Given the description of an element on the screen output the (x, y) to click on. 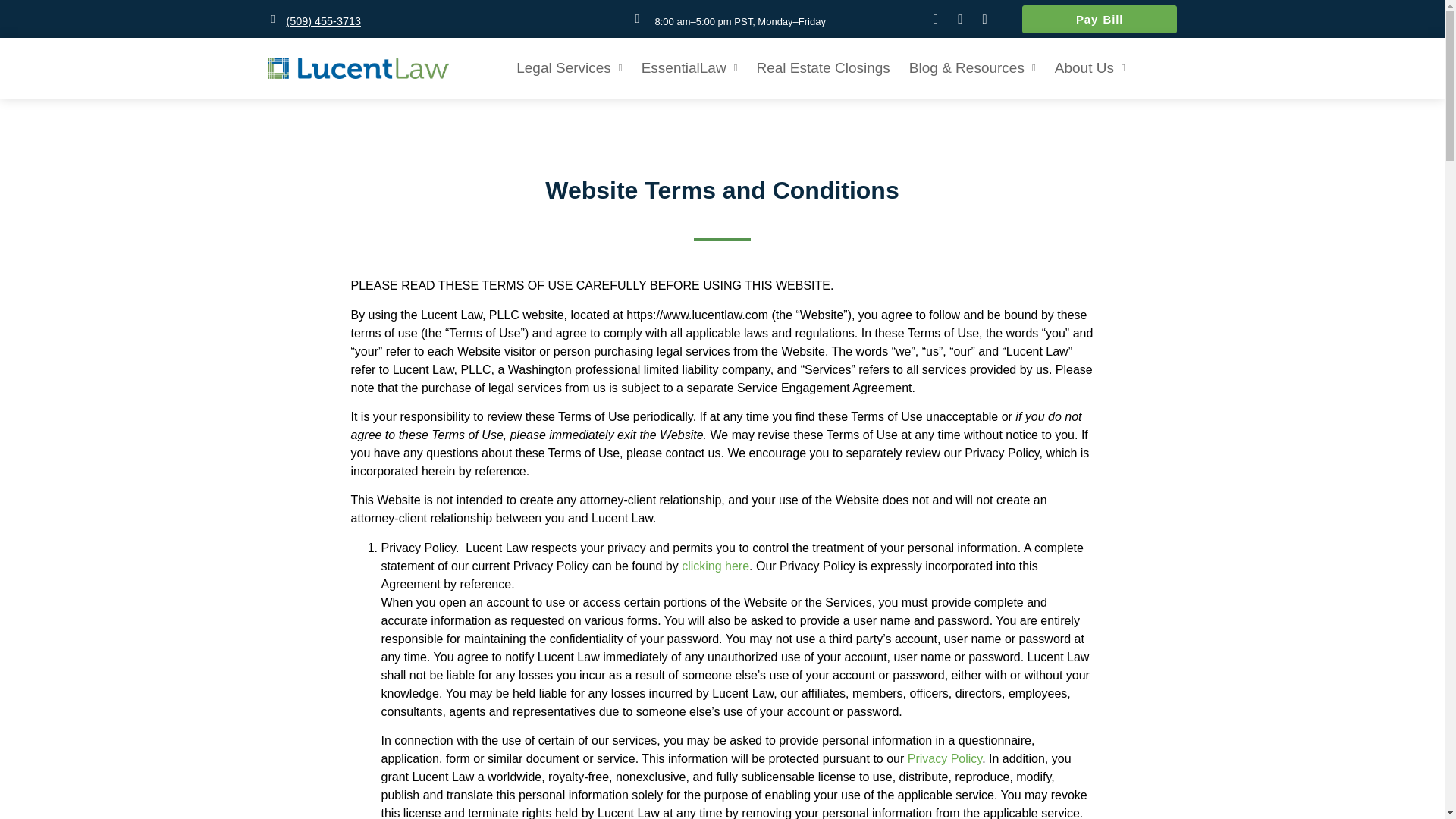
Real Estate Closings (822, 67)
About Us (1090, 67)
Pay Bill (1099, 18)
EssentialLaw (689, 67)
Legal Services (569, 67)
